Given the description of an element on the screen output the (x, y) to click on. 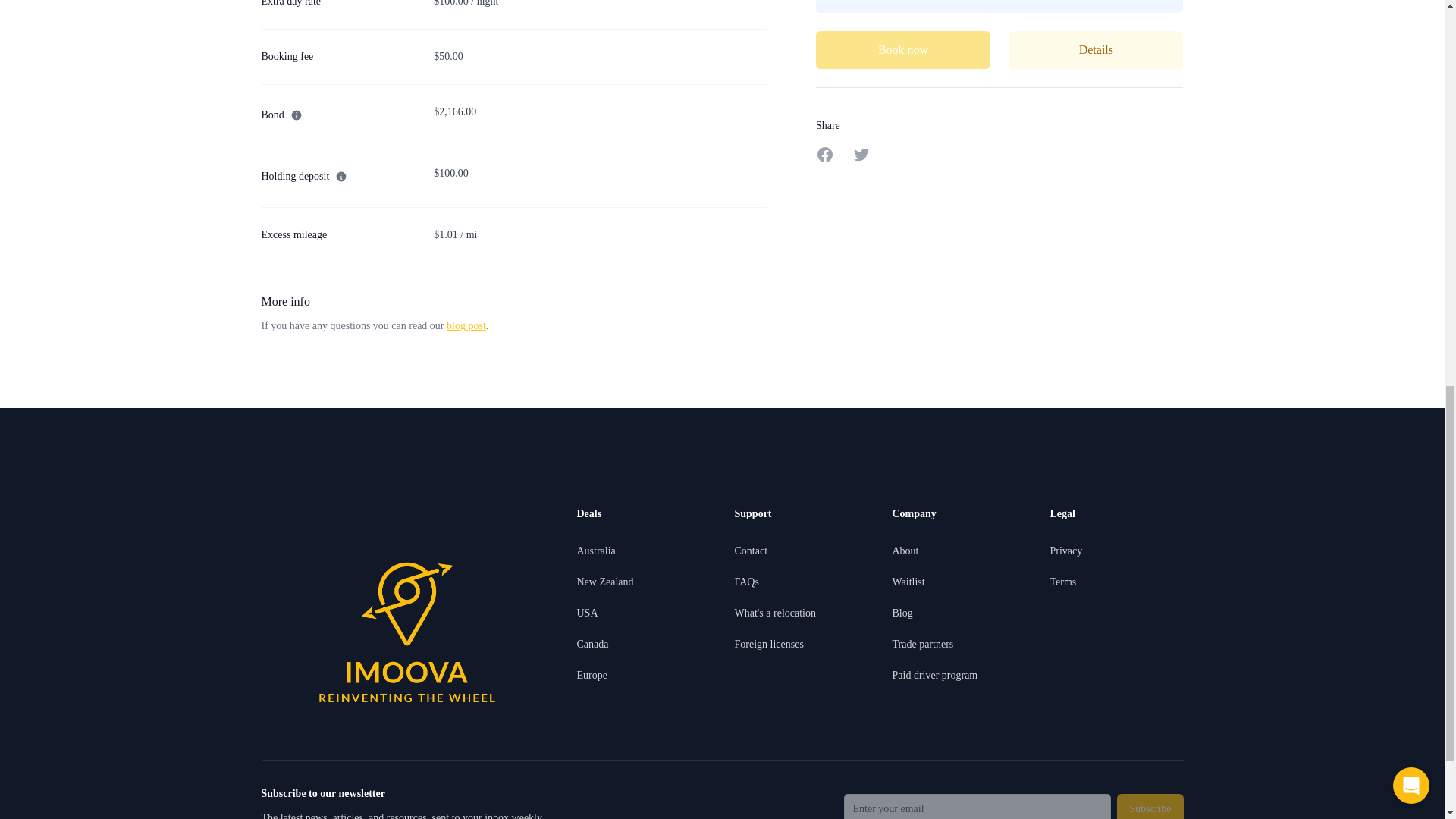
New Zealand (604, 582)
Share on Twitter (860, 154)
Bond (280, 115)
Contact (750, 550)
Australia (595, 550)
Holding deposit (303, 176)
USA (586, 613)
Canada (592, 644)
Details (1095, 49)
blog post (466, 325)
Europe (591, 674)
Book now (902, 49)
Share on Facebook (824, 154)
